Given the description of an element on the screen output the (x, y) to click on. 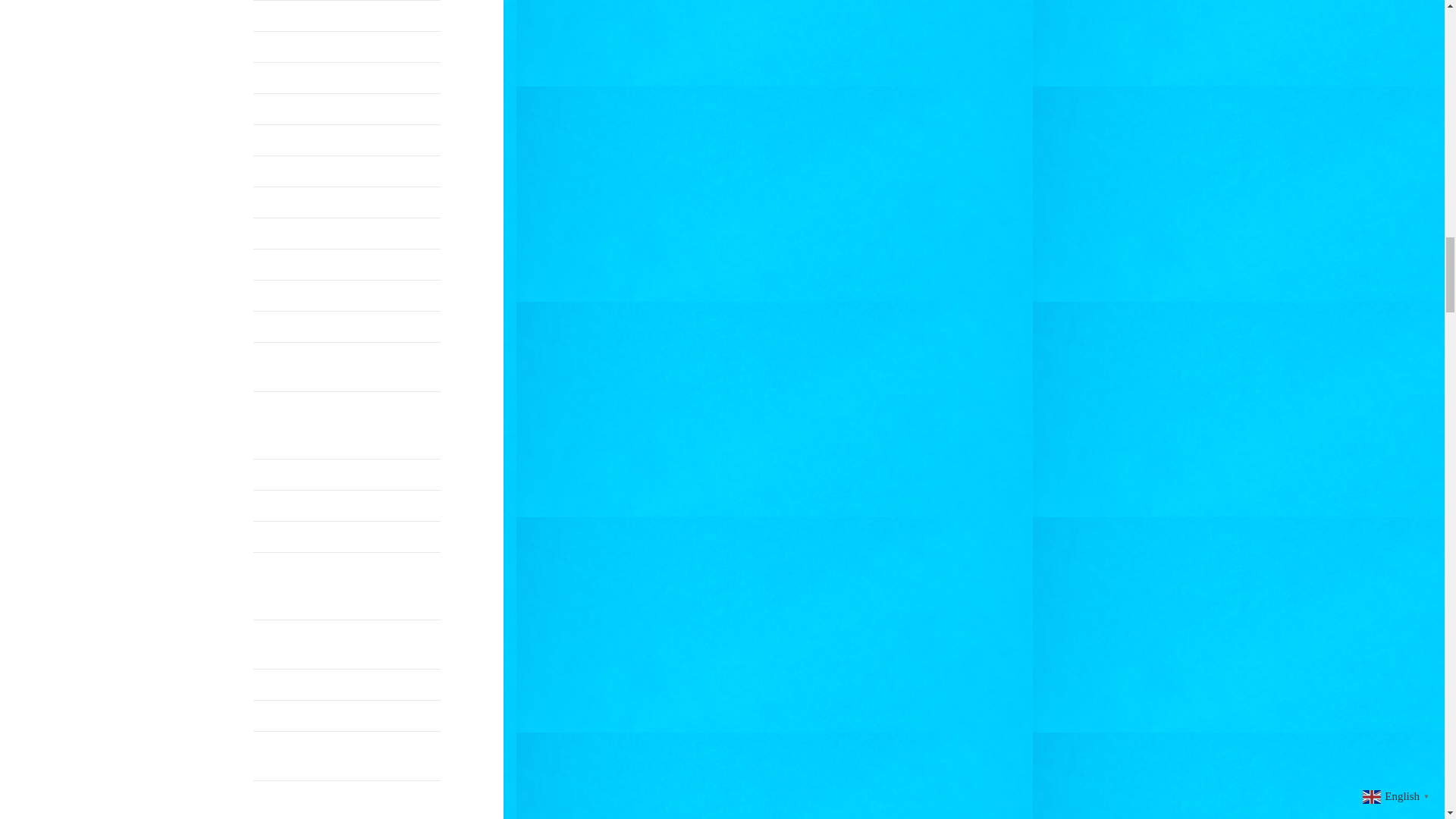
NEW game (347, 233)
Angles Activities. (347, 264)
Nivsta warm-up activity (347, 46)
NEW, NIV IT Activity (347, 327)
Free Scratchie. (347, 202)
Music or no Music? (347, 171)
Free. (347, 78)
New Trick (347, 295)
